Given the description of an element on the screen output the (x, y) to click on. 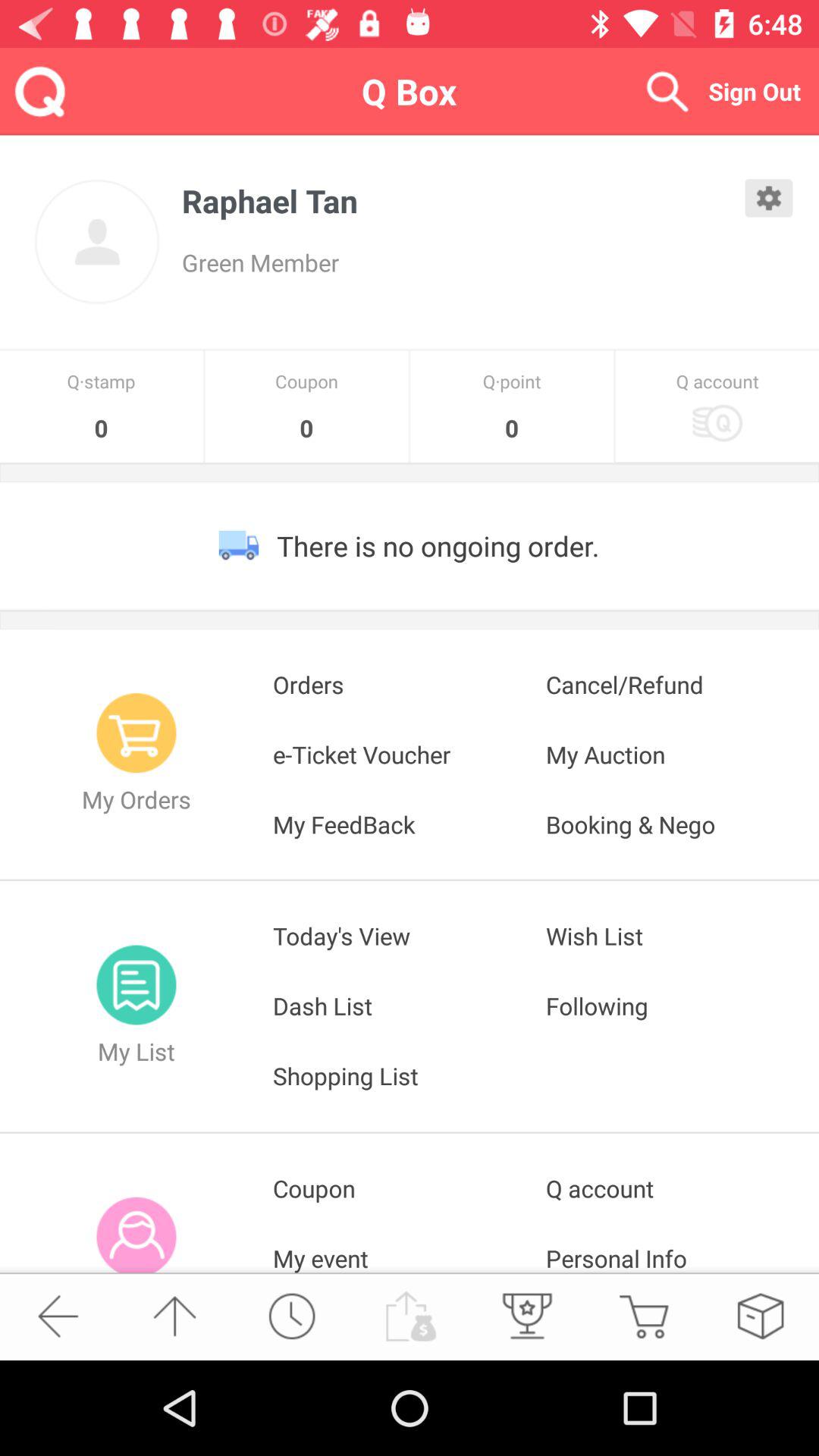
turn off the item below the my info icon (174, 1316)
